Given the description of an element on the screen output the (x, y) to click on. 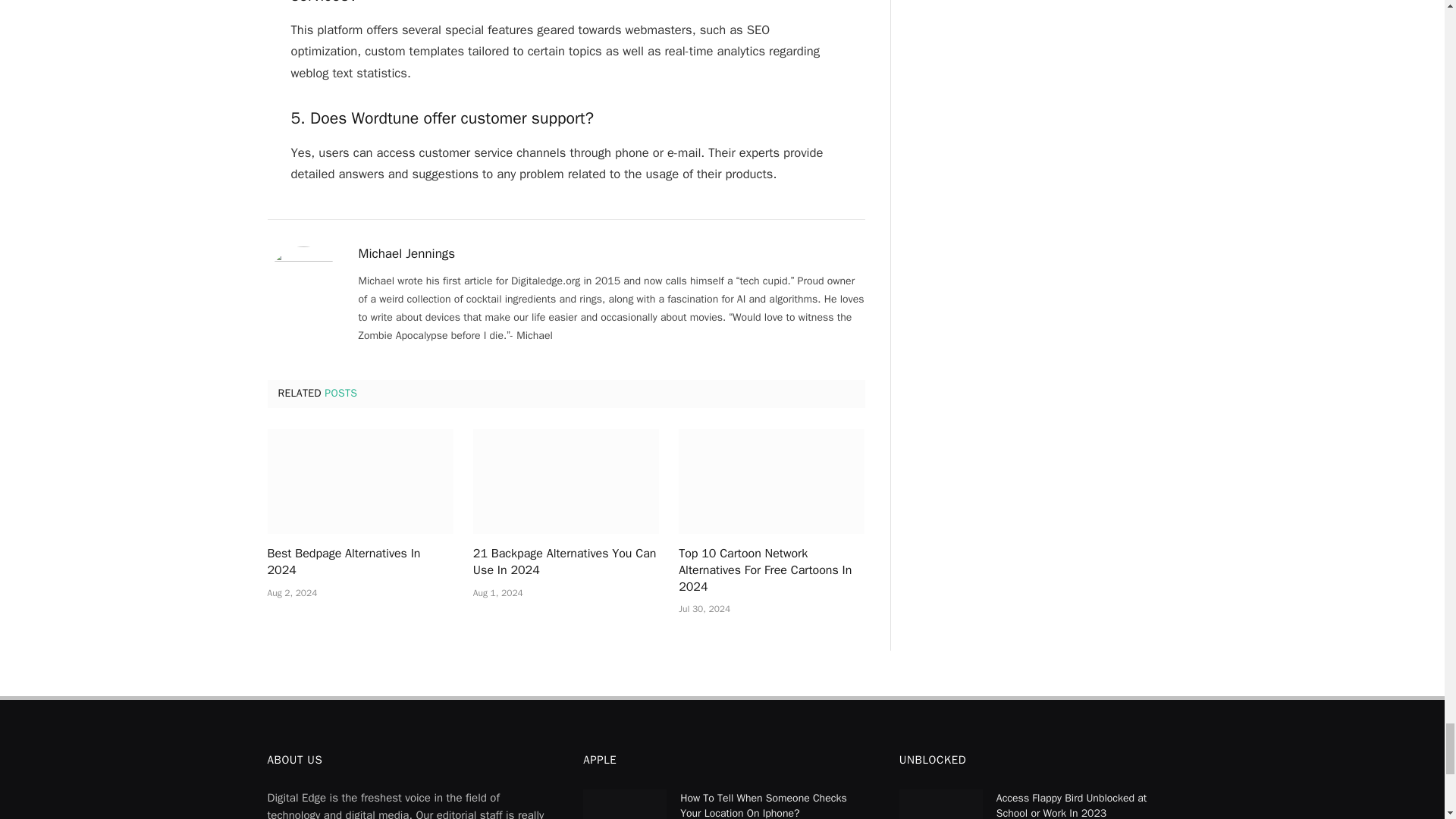
Posts by Michael Jennings (406, 253)
